Given the description of an element on the screen output the (x, y) to click on. 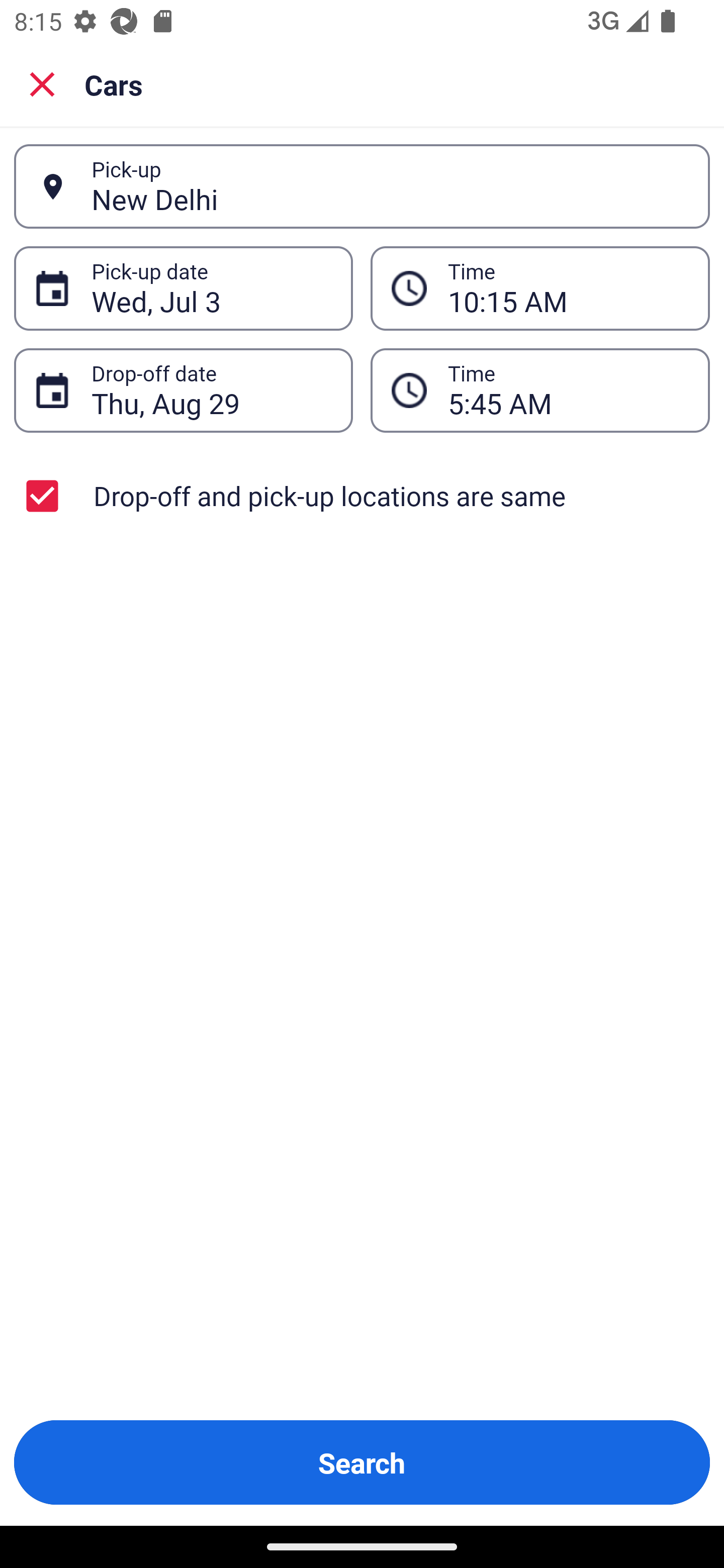
Close search screen (41, 83)
New Delhi Pick-up (361, 186)
New Delhi (389, 186)
Wed, Jul 3 Pick-up date (183, 288)
10:15 AM (540, 288)
Wed, Jul 3 (211, 288)
10:15 AM (568, 288)
Thu, Aug 29 Drop-off date (183, 390)
5:45 AM (540, 390)
Thu, Aug 29 (211, 390)
5:45 AM (568, 390)
Drop-off and pick-up locations are same (361, 495)
Search Button Search (361, 1462)
